Given the description of an element on the screen output the (x, y) to click on. 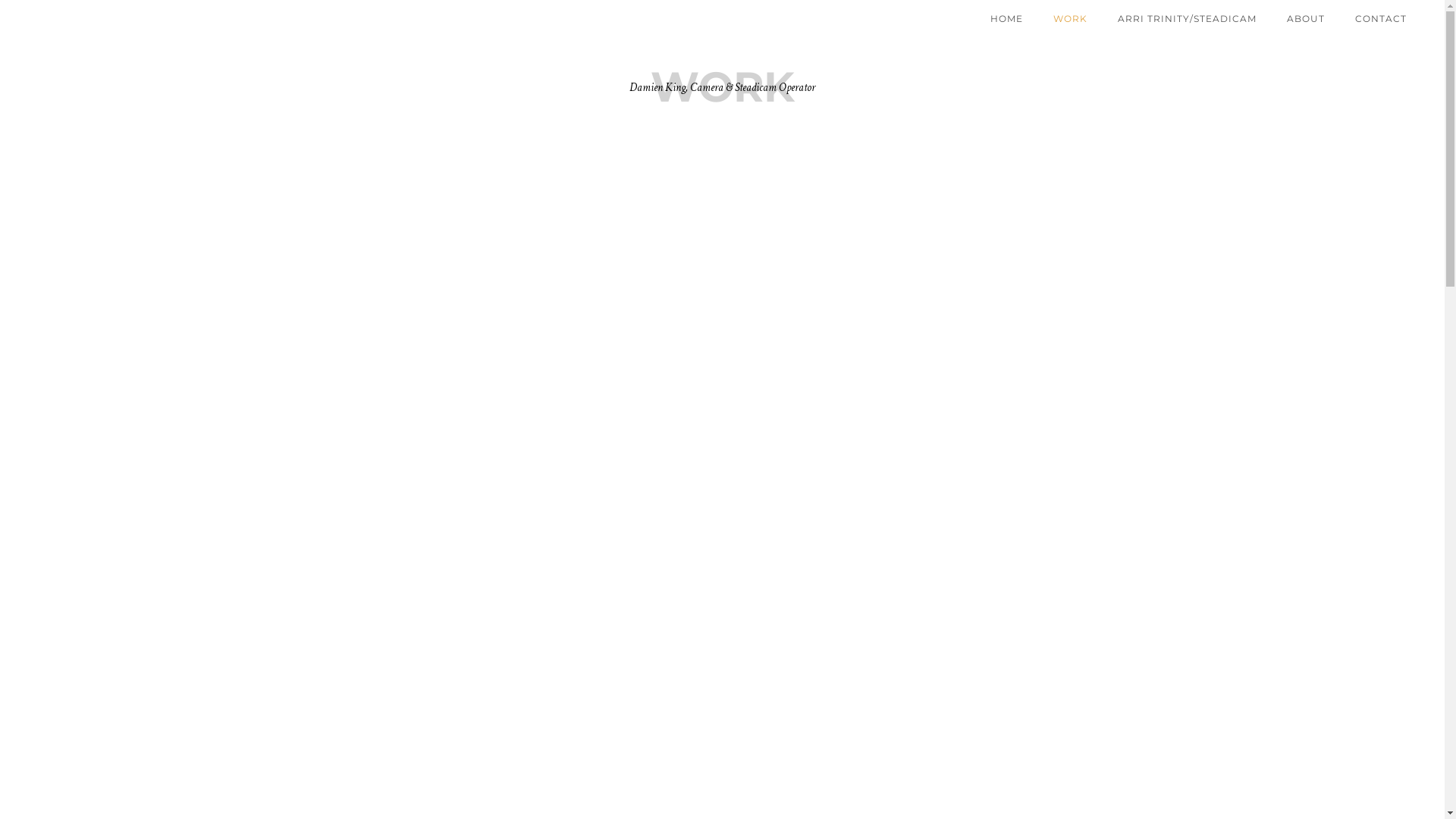
ARRI TRINITY/STEADICAM Element type: text (1186, 18)
ABOUT Element type: text (1305, 18)
CONTACT Element type: text (1380, 18)
WORK Element type: text (1070, 18)
HOME Element type: text (1006, 18)
